Given the description of an element on the screen output the (x, y) to click on. 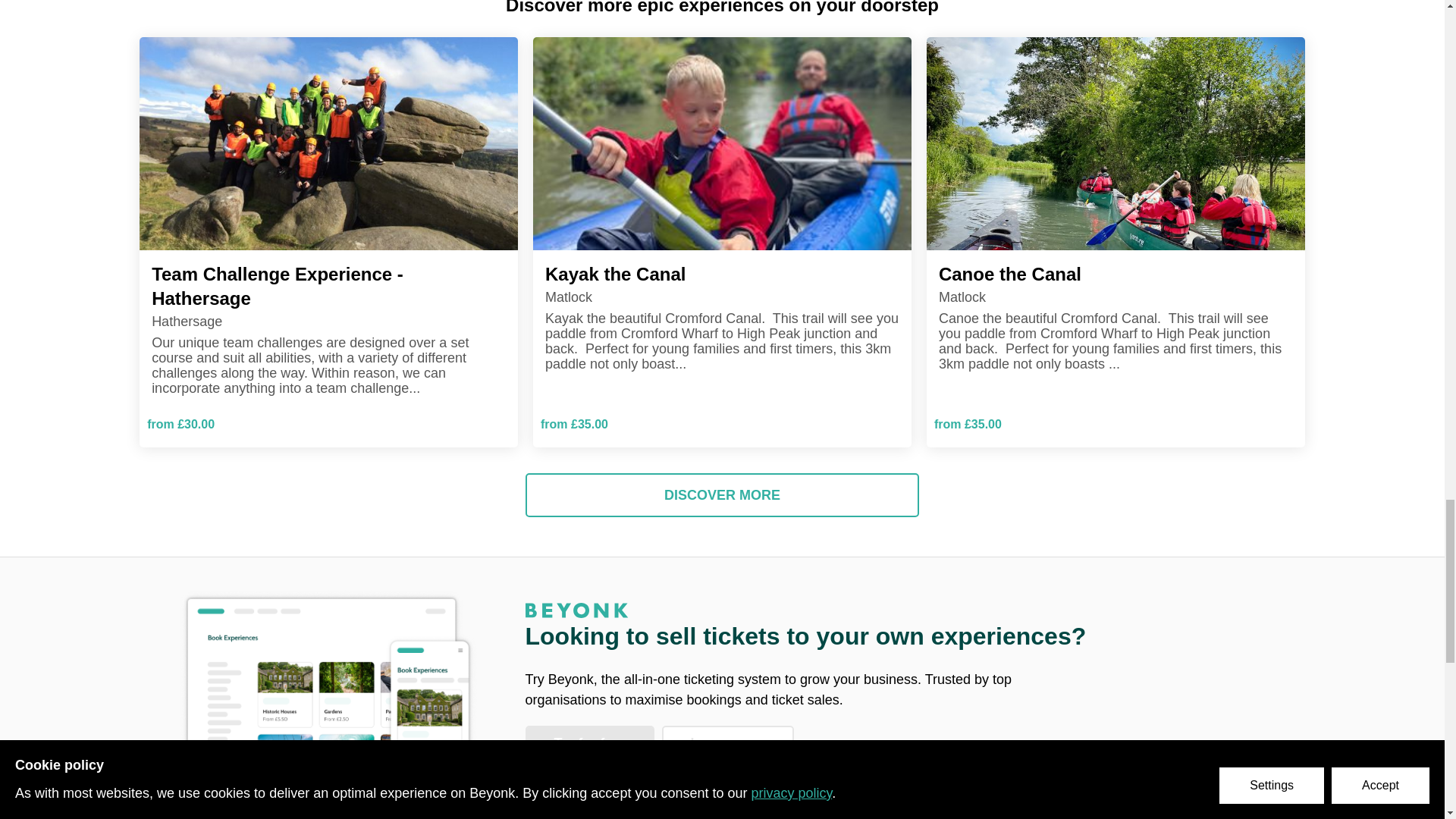
DISCOVER MORE (721, 495)
